Given the description of an element on the screen output the (x, y) to click on. 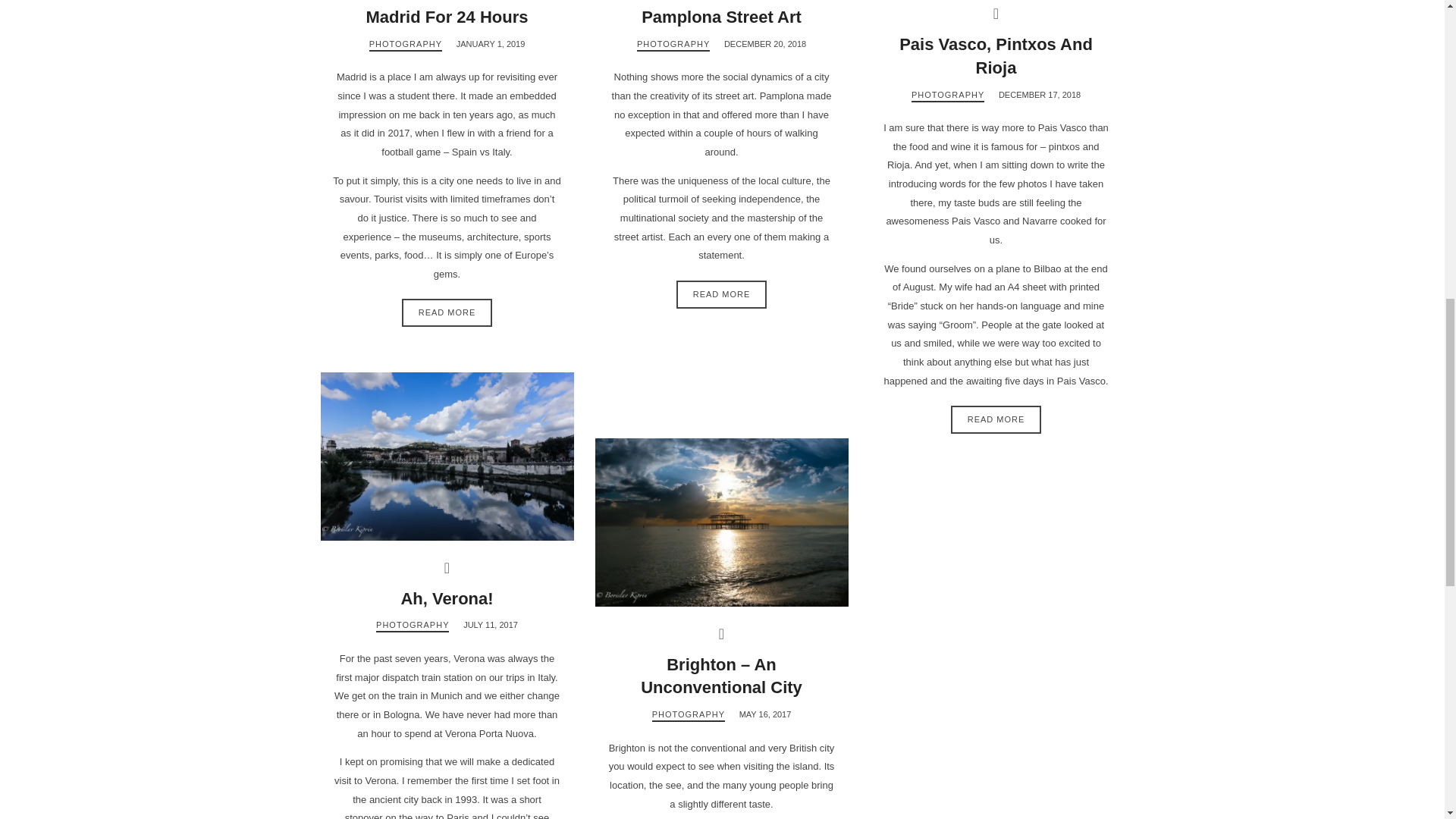
JANUARY 1, 2019 (491, 43)
Pais Vasco, Pintxos And Rioja (996, 55)
Madrid For 24 Hours (447, 16)
Pamplona Street Art (722, 16)
PHOTOGRAPHY (405, 44)
READ MORE (722, 294)
PHOTOGRAPHY (947, 95)
PHOTOGRAPHY (673, 44)
DECEMBER 20, 2018 (764, 43)
READ MORE (447, 312)
